Given the description of an element on the screen output the (x, y) to click on. 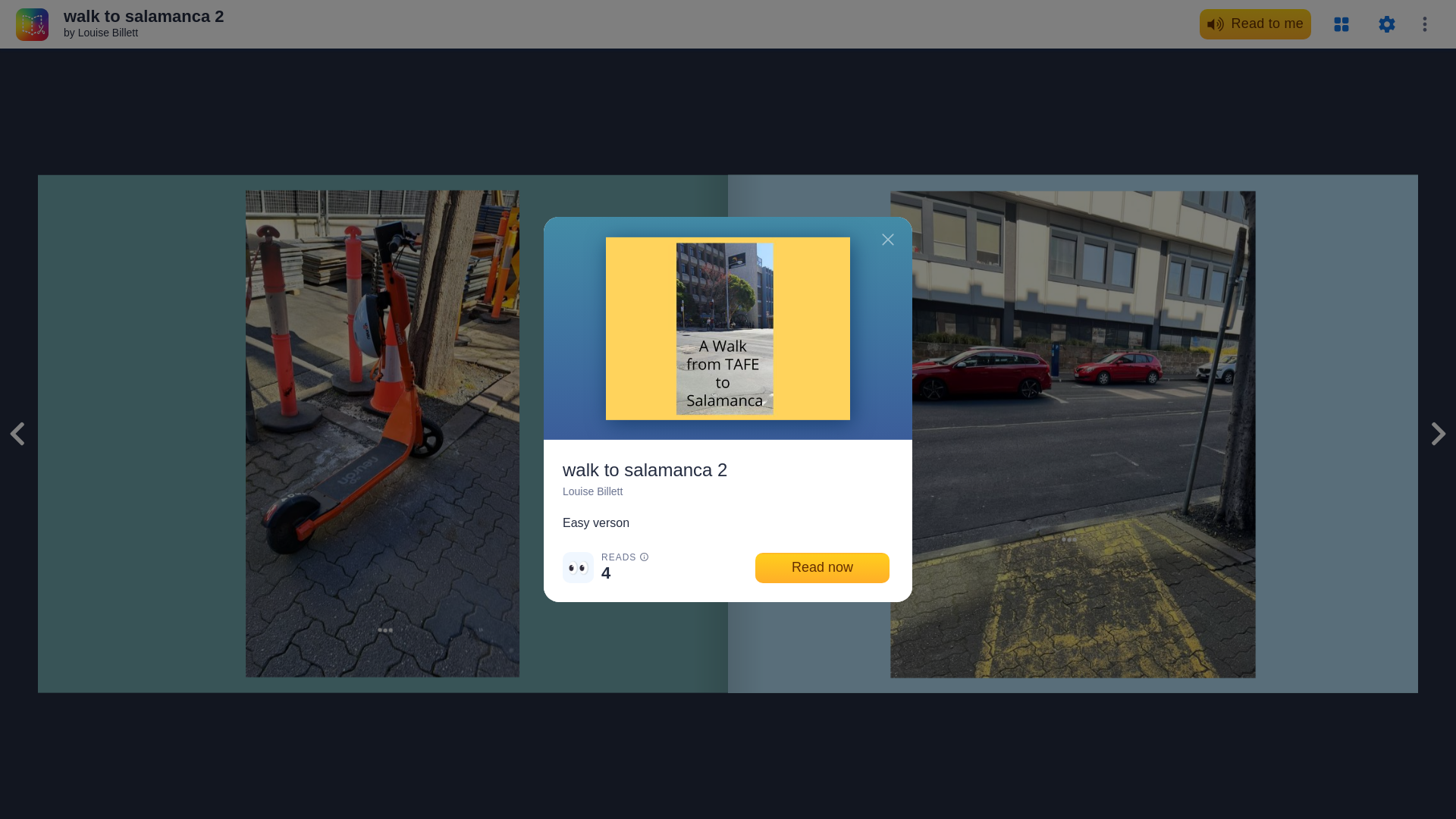
Read to me (1255, 24)
Go to Book Creator website (32, 23)
Book Creator (32, 23)
Read now (822, 567)
Pages (1341, 24)
Settings (1386, 24)
Menu (1424, 24)
